Given the description of an element on the screen output the (x, y) to click on. 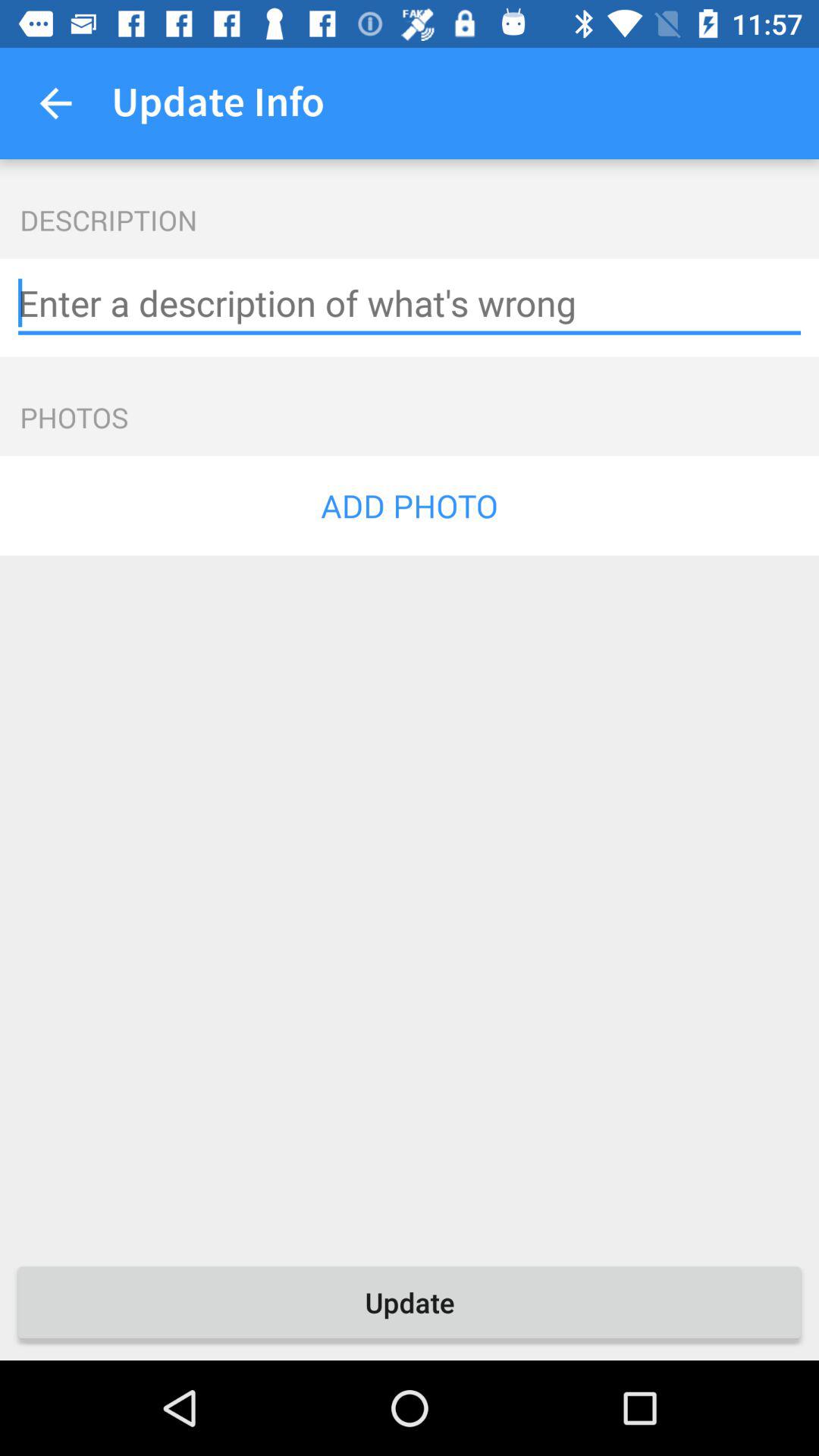
click icon above description icon (55, 103)
